Given the description of an element on the screen output the (x, y) to click on. 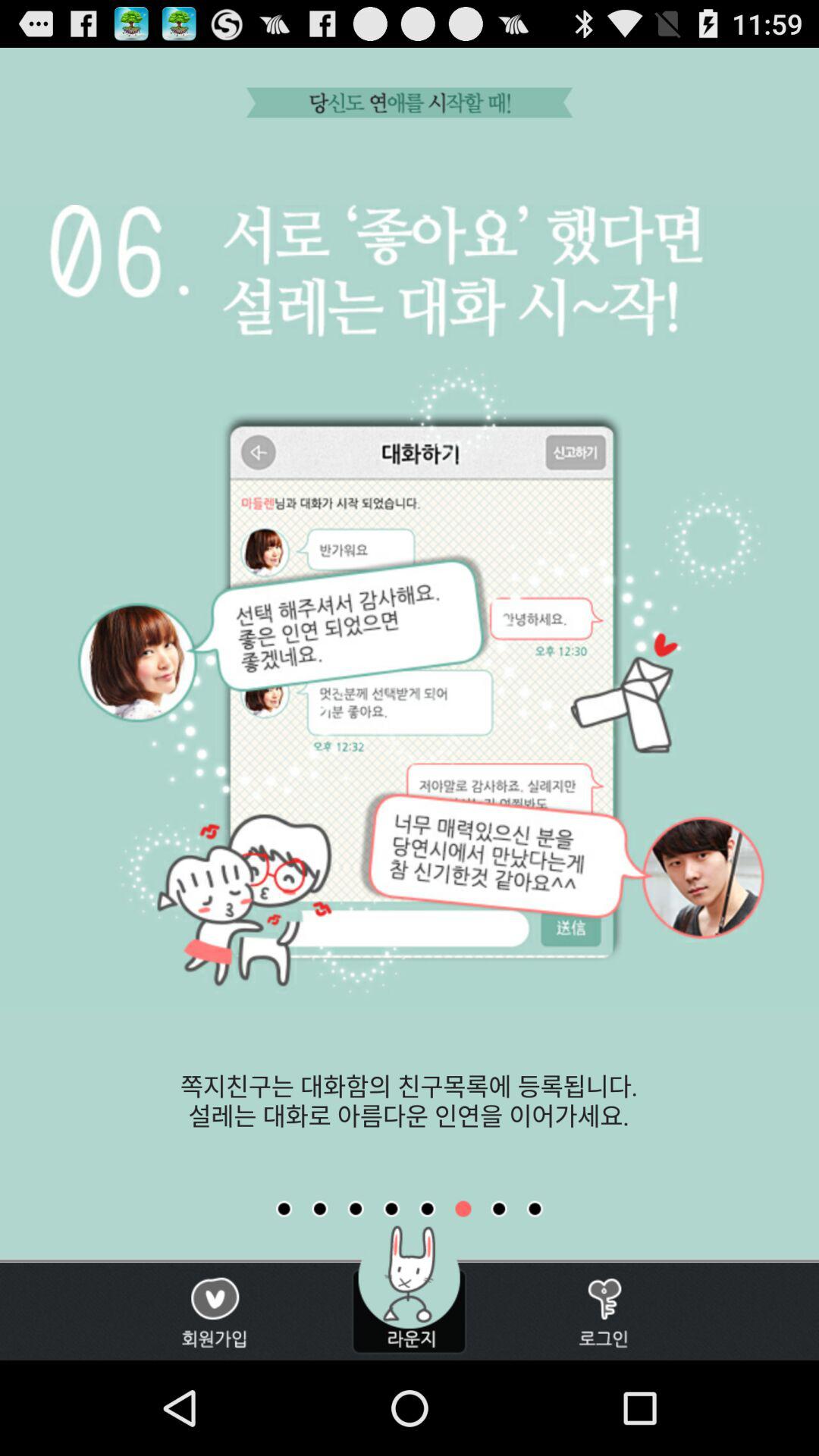
back (391, 1208)
